Given the description of an element on the screen output the (x, y) to click on. 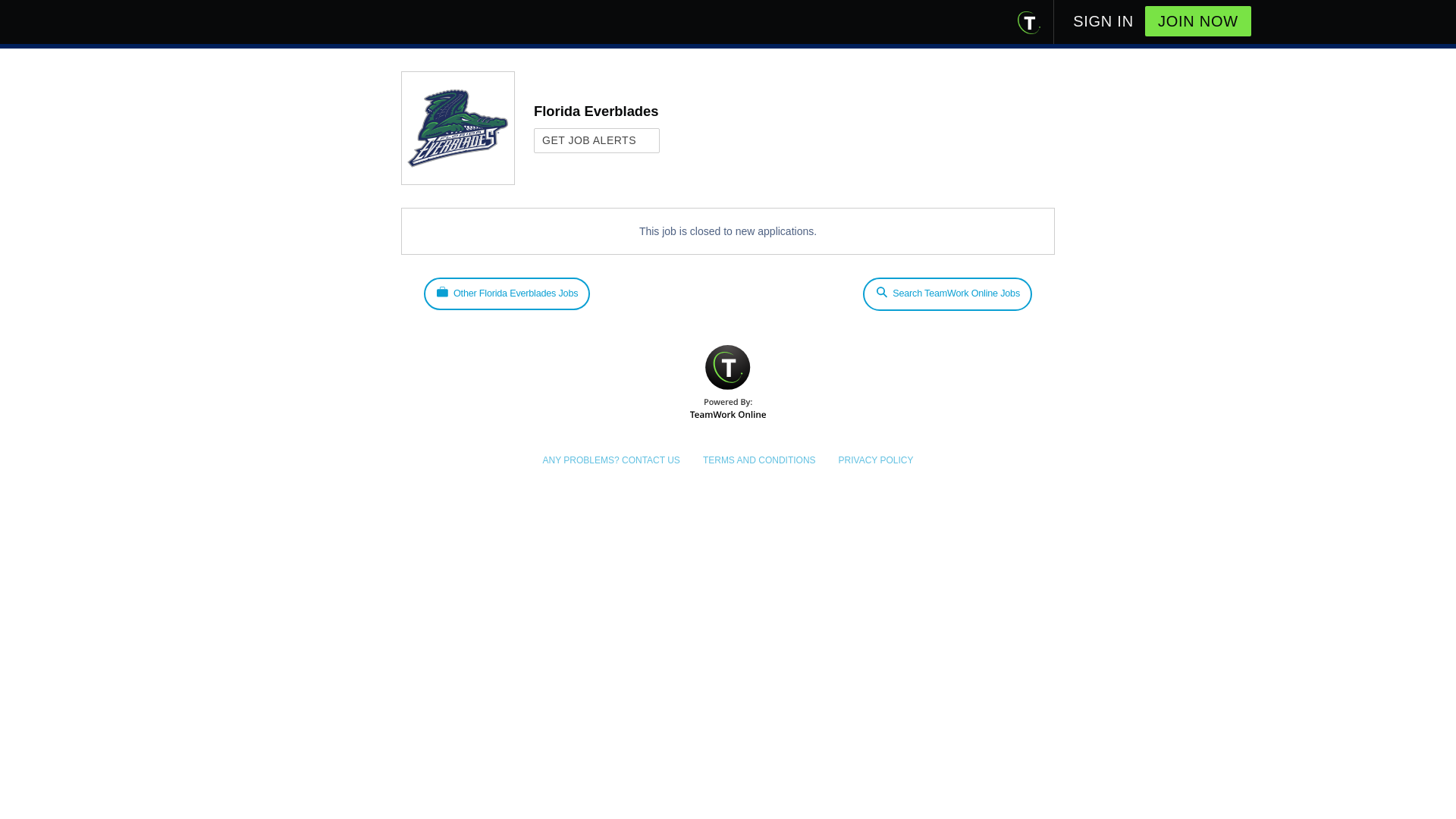
Other Florida Everblades Jobs (506, 293)
JOIN NOW (1197, 20)
SIGN IN (1102, 15)
PRIVACY POLICY (876, 460)
GET JOB ALERTS (596, 140)
TERMS AND CONDITIONS (759, 460)
ANY PROBLEMS? CONTACT US (610, 460)
Search TeamWork Online Jobs (947, 294)
